Given the description of an element on the screen output the (x, y) to click on. 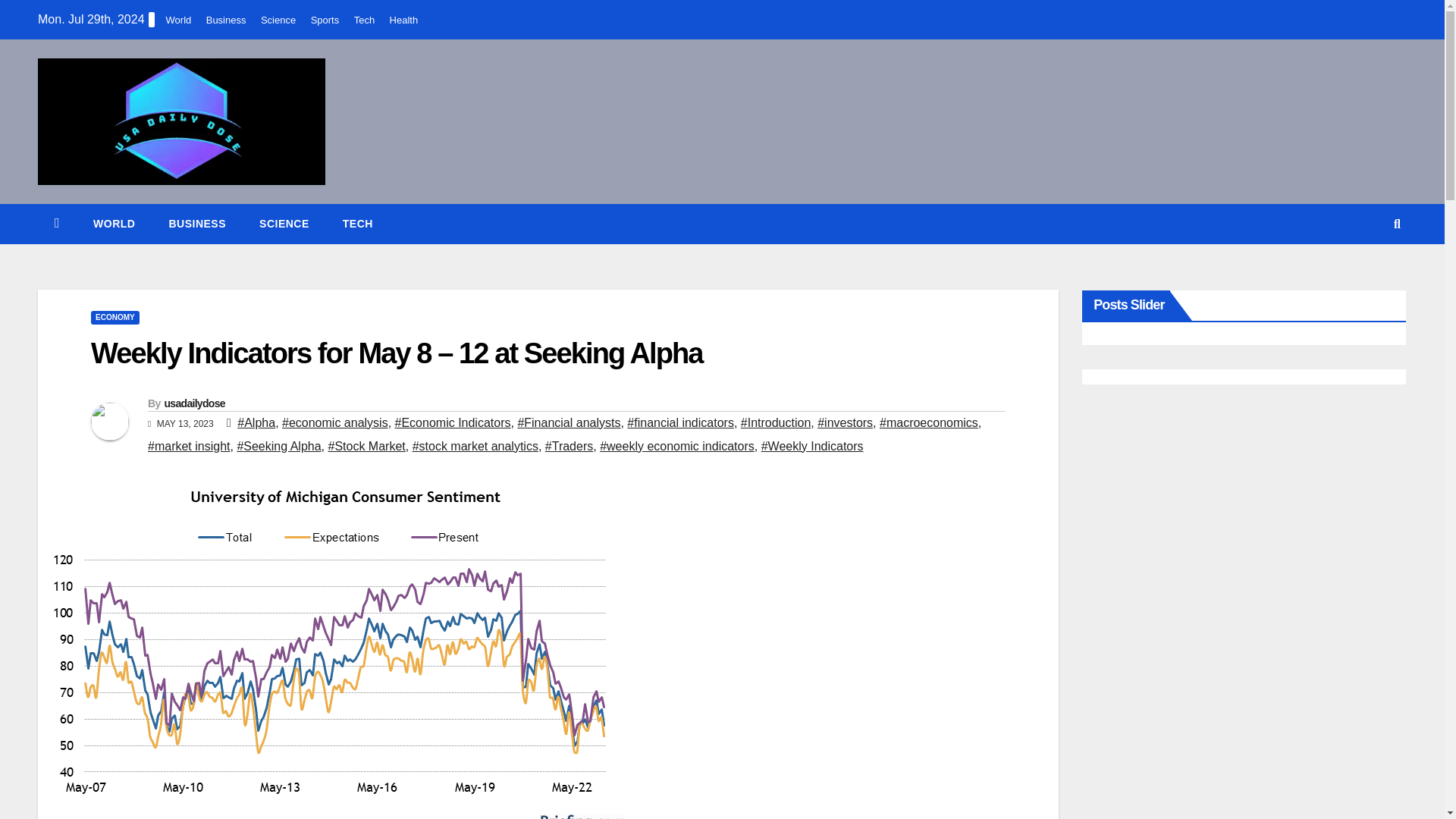
TECH (358, 223)
Science (284, 223)
Tech (358, 223)
usadailydose (193, 403)
Science (277, 19)
World (178, 19)
Health (404, 19)
BUSINESS (197, 223)
Sports (325, 19)
Tech (363, 19)
Business (226, 19)
WORLD (114, 223)
SCIENCE (284, 223)
Business (197, 223)
ECONOMY (114, 317)
